Given the description of an element on the screen output the (x, y) to click on. 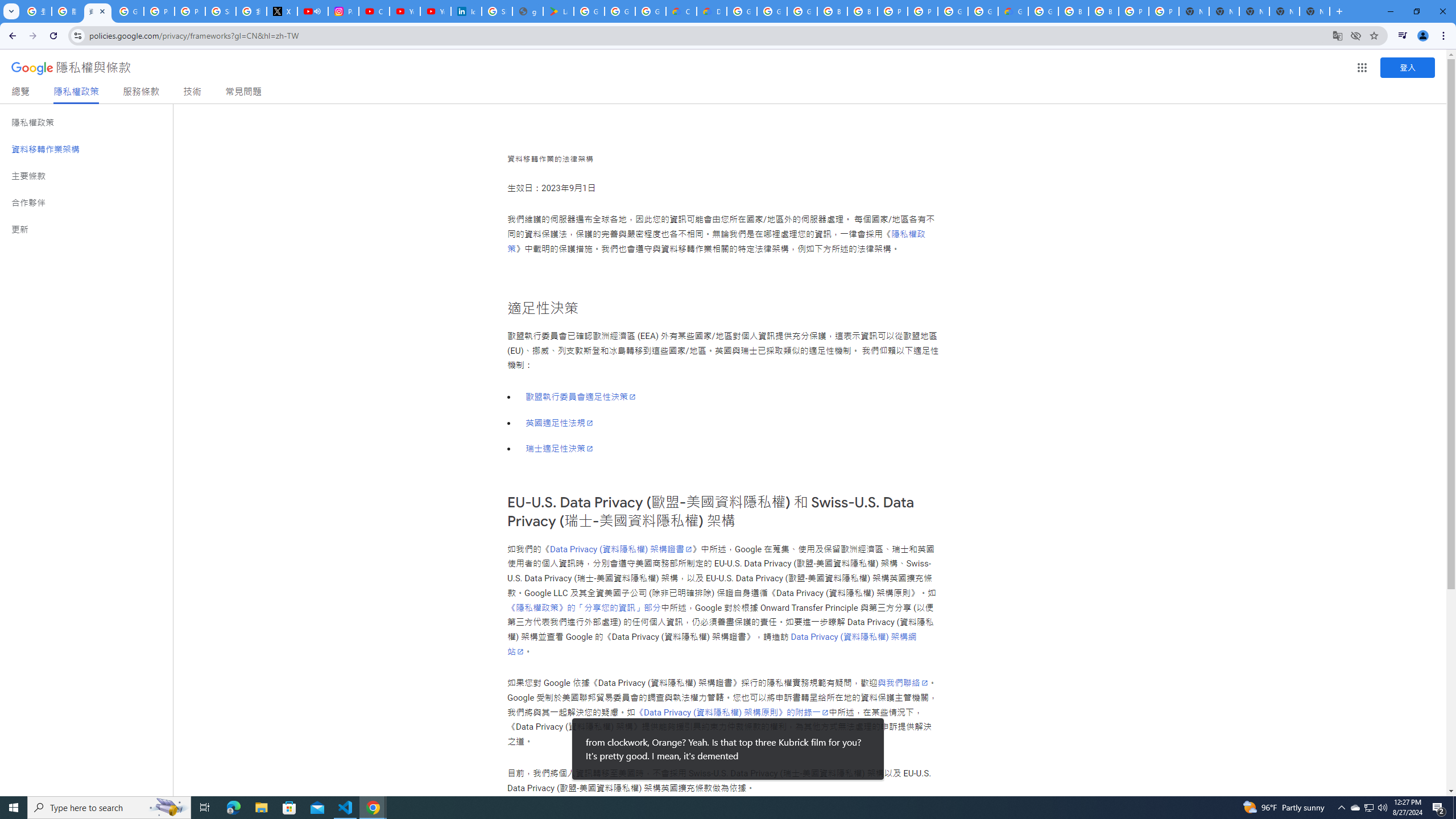
Last Shelter: Survival - Apps on Google Play (558, 11)
Google Cloud Platform (1042, 11)
